Given the description of an element on the screen output the (x, y) to click on. 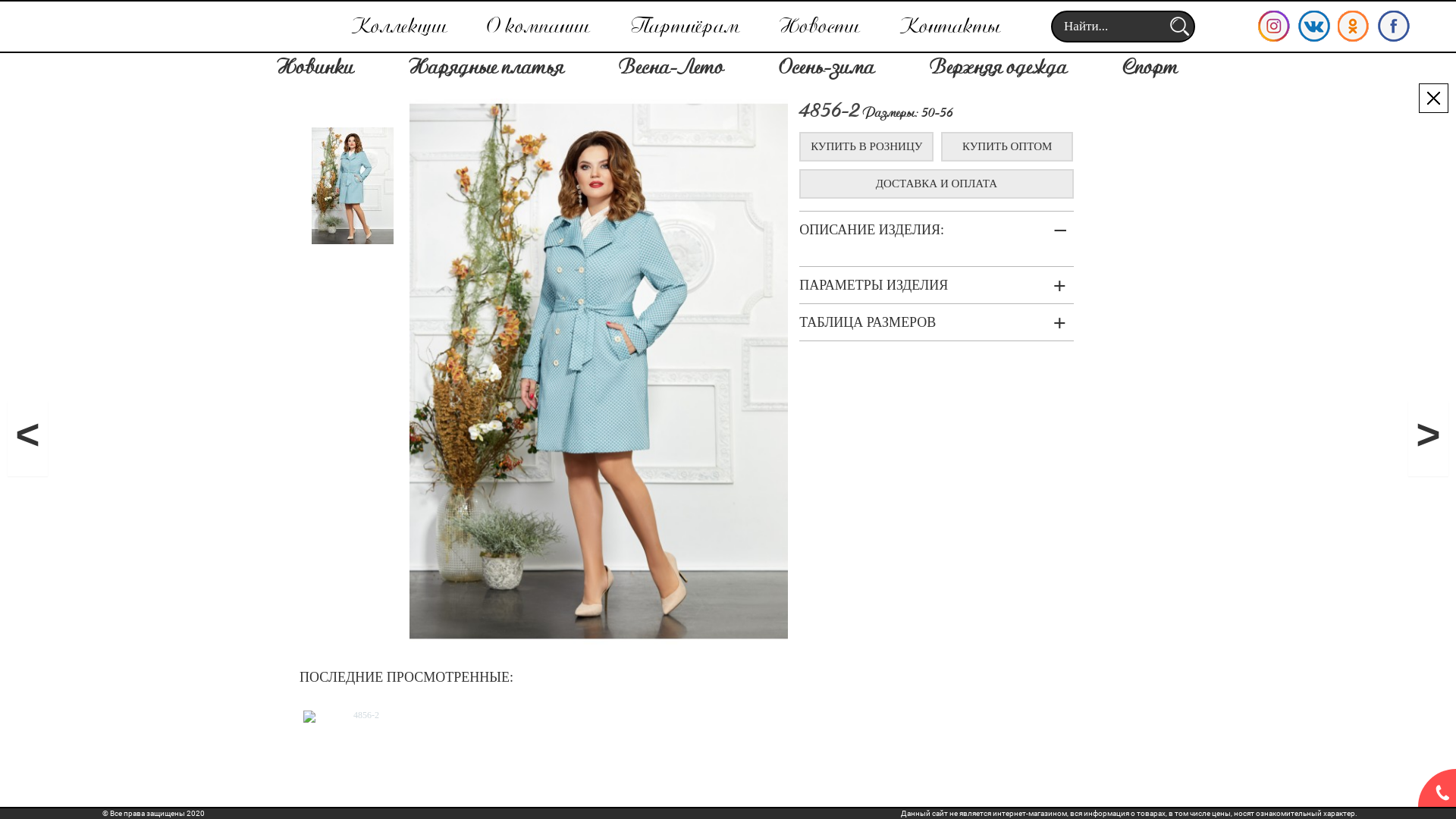
> Element type: text (1428, 438)
< Element type: text (27, 438)
4856-2 Element type: hover (360, 716)
4856-2 Element type: hover (352, 185)
